Given the description of an element on the screen output the (x, y) to click on. 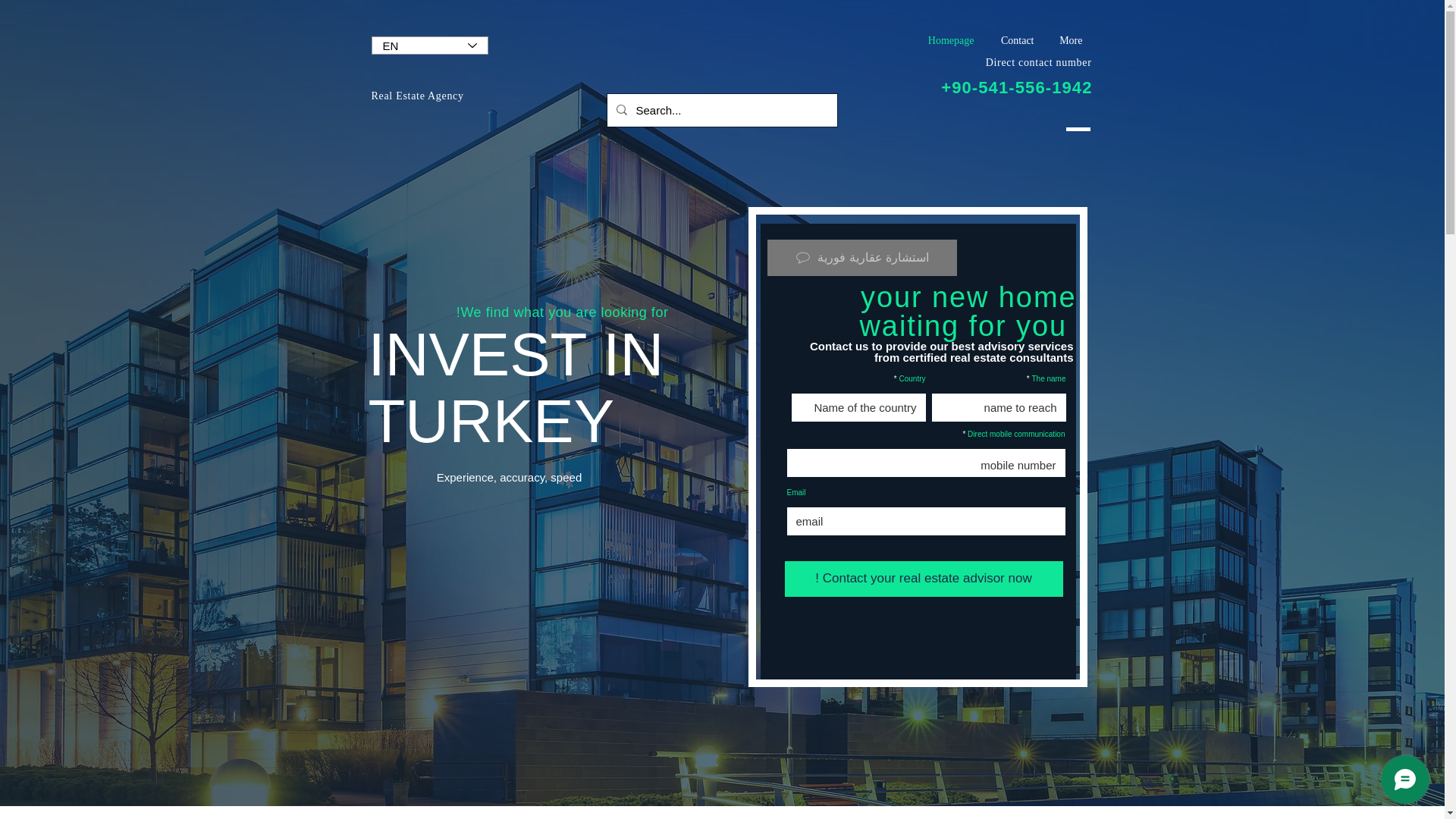
Real Estate Agency (417, 95)
Homepage (948, 40)
Contact (1015, 40)
! Contact your real estate advisor now (923, 579)
